Given the description of an element on the screen output the (x, y) to click on. 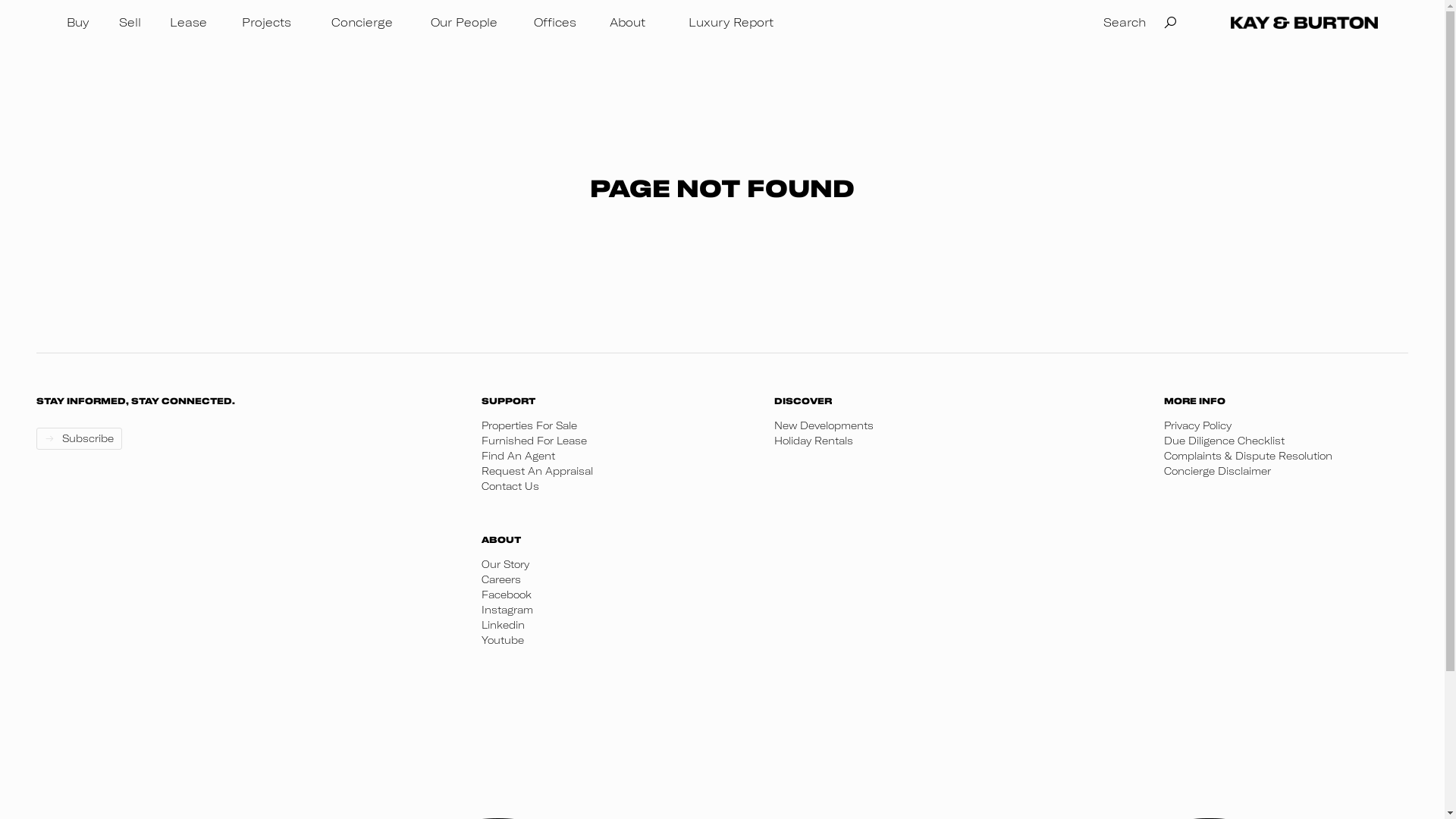
Lease Element type: text (188, 22)
About Element type: text (627, 22)
SUPPORT Element type: text (609, 400)
Find An Agent Element type: text (609, 455)
Concierge Disclaimer Element type: text (1248, 470)
Facebook Element type: text (507, 594)
Instagram Element type: text (507, 609)
Properties For Sale Element type: text (609, 425)
Privacy Policy Element type: text (1248, 425)
Our People Element type: text (463, 22)
Furnished For Lease Element type: text (609, 440)
New Developments Element type: text (950, 425)
Offices Element type: text (554, 22)
Holiday Rentals Element type: text (950, 440)
Sell Element type: text (130, 22)
Our Story Element type: text (507, 563)
Luxury Report Element type: text (730, 22)
DISCOVER Element type: text (950, 400)
Contact Us Element type: text (609, 485)
Search Element type: text (1140, 22)
Careers Element type: text (507, 578)
Request An Appraisal Element type: text (609, 470)
Due Diligence Checklist Element type: text (1248, 440)
Buy Element type: text (77, 22)
ABOUT Element type: text (507, 539)
Linkedin Element type: text (507, 624)
MORE INFO Element type: text (1248, 400)
Youtube Element type: text (507, 639)
Concierge Element type: text (361, 22)
Subscribe Element type: text (79, 438)
Complaints & Dispute Resolution Element type: text (1248, 455)
Projects Element type: text (265, 22)
